Given the description of an element on the screen output the (x, y) to click on. 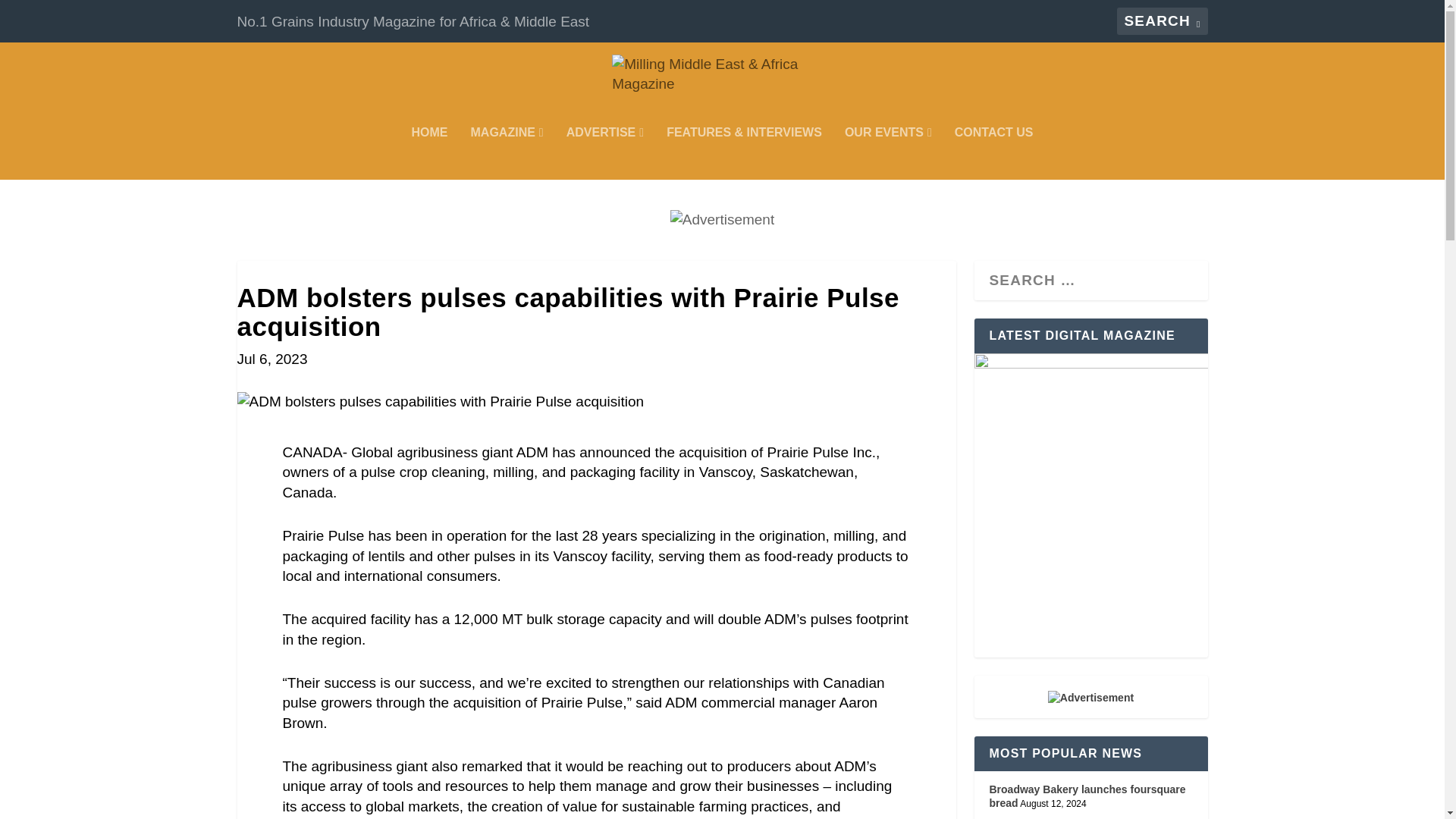
OUR EVENTS (887, 152)
MAGAZINE (506, 152)
CONTACT US (994, 152)
Search for: (1161, 21)
ADVERTISE (604, 152)
